Given the description of an element on the screen output the (x, y) to click on. 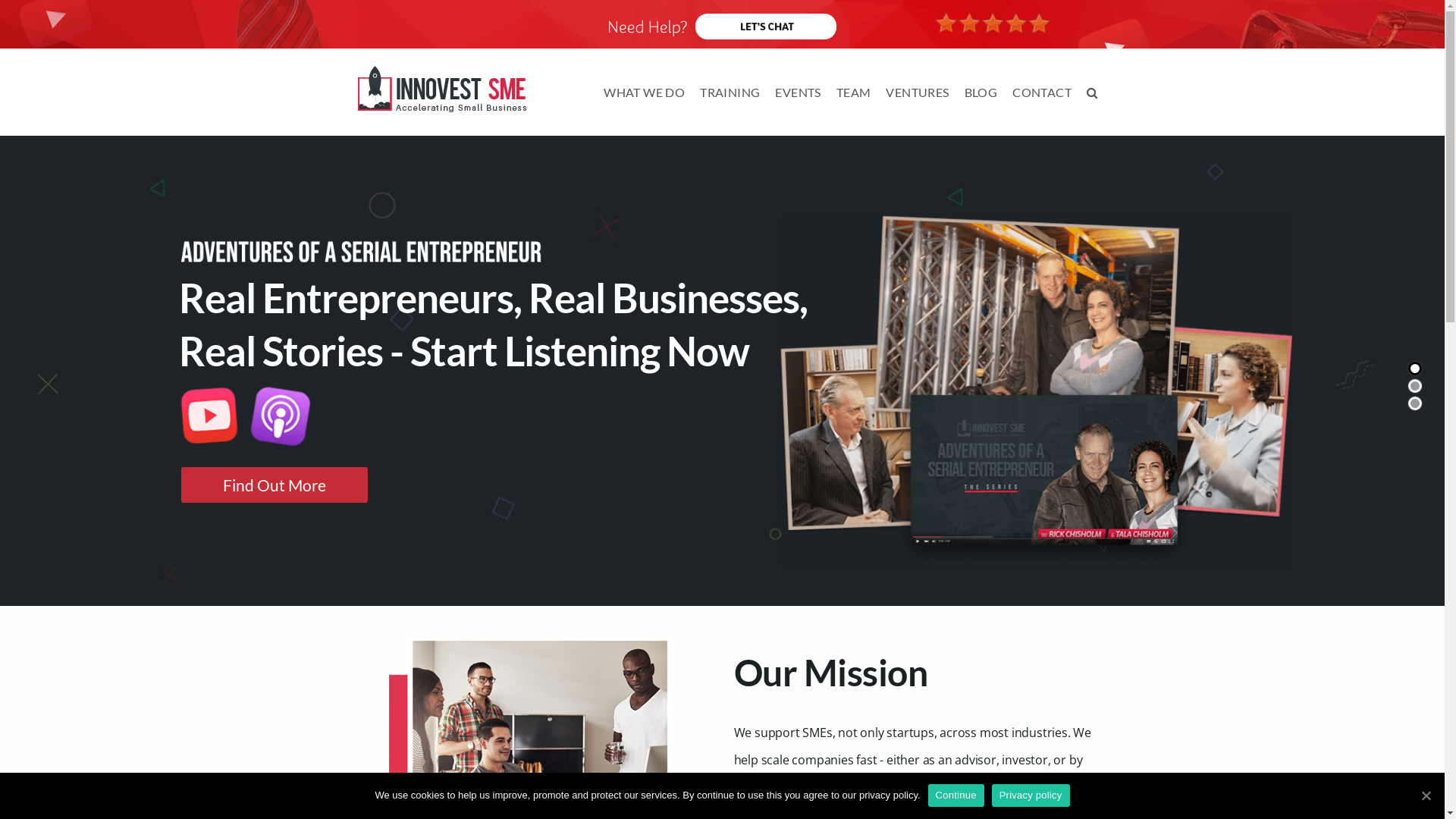
Innovest SME Element type: hover (441, 86)
TEAM Element type: text (853, 92)
TRAINING Element type: text (729, 92)
Continue Element type: text (956, 795)
VENTURES Element type: text (917, 92)
CONTACT Element type: text (1041, 92)
WHAT WE DO Element type: text (644, 92)
BLOG Element type: text (981, 92)
Privacy policy Element type: text (1030, 795)
EVENTS Element type: text (797, 92)
